Given the description of an element on the screen output the (x, y) to click on. 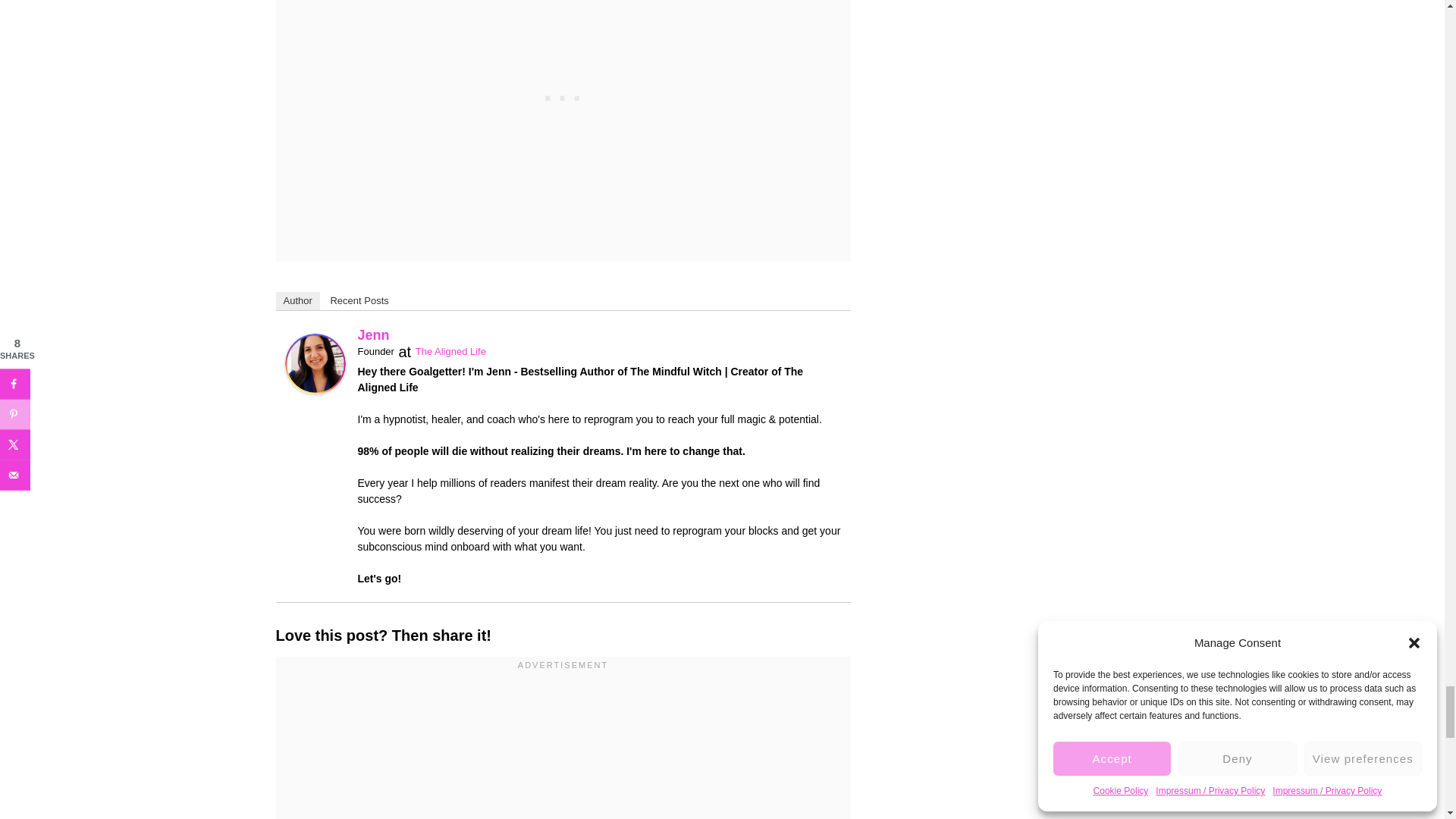
Recent Posts (358, 300)
Jenn (374, 335)
The Aligned Life (450, 351)
Author (298, 300)
Jenn (315, 363)
